Given the description of an element on the screen output the (x, y) to click on. 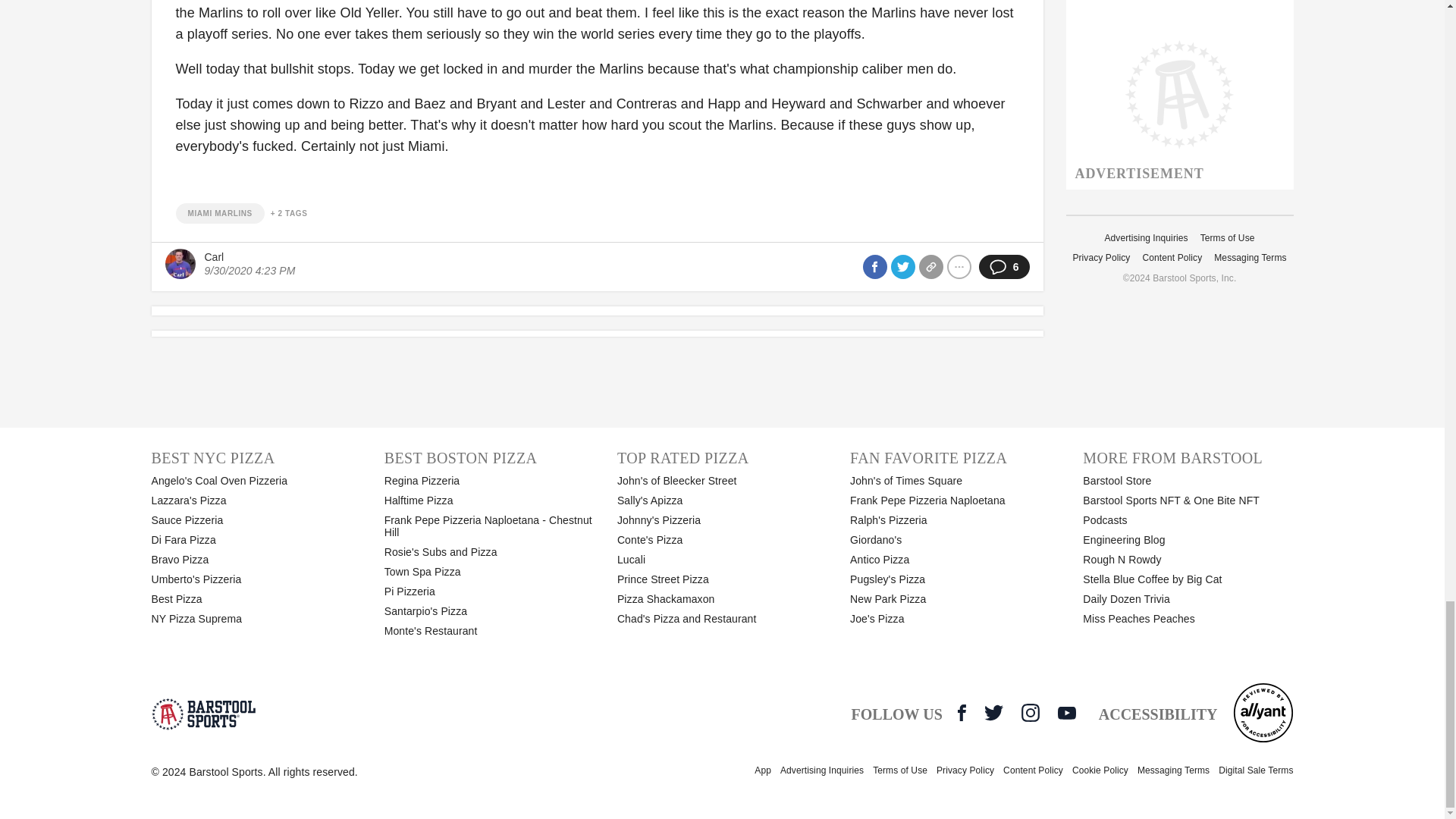
Twitter Icon (993, 712)
Reviewed by Allyant for accessibility (1263, 712)
Instagram Icon (1030, 712)
YouTube Icon (1066, 712)
